Given the description of an element on the screen output the (x, y) to click on. 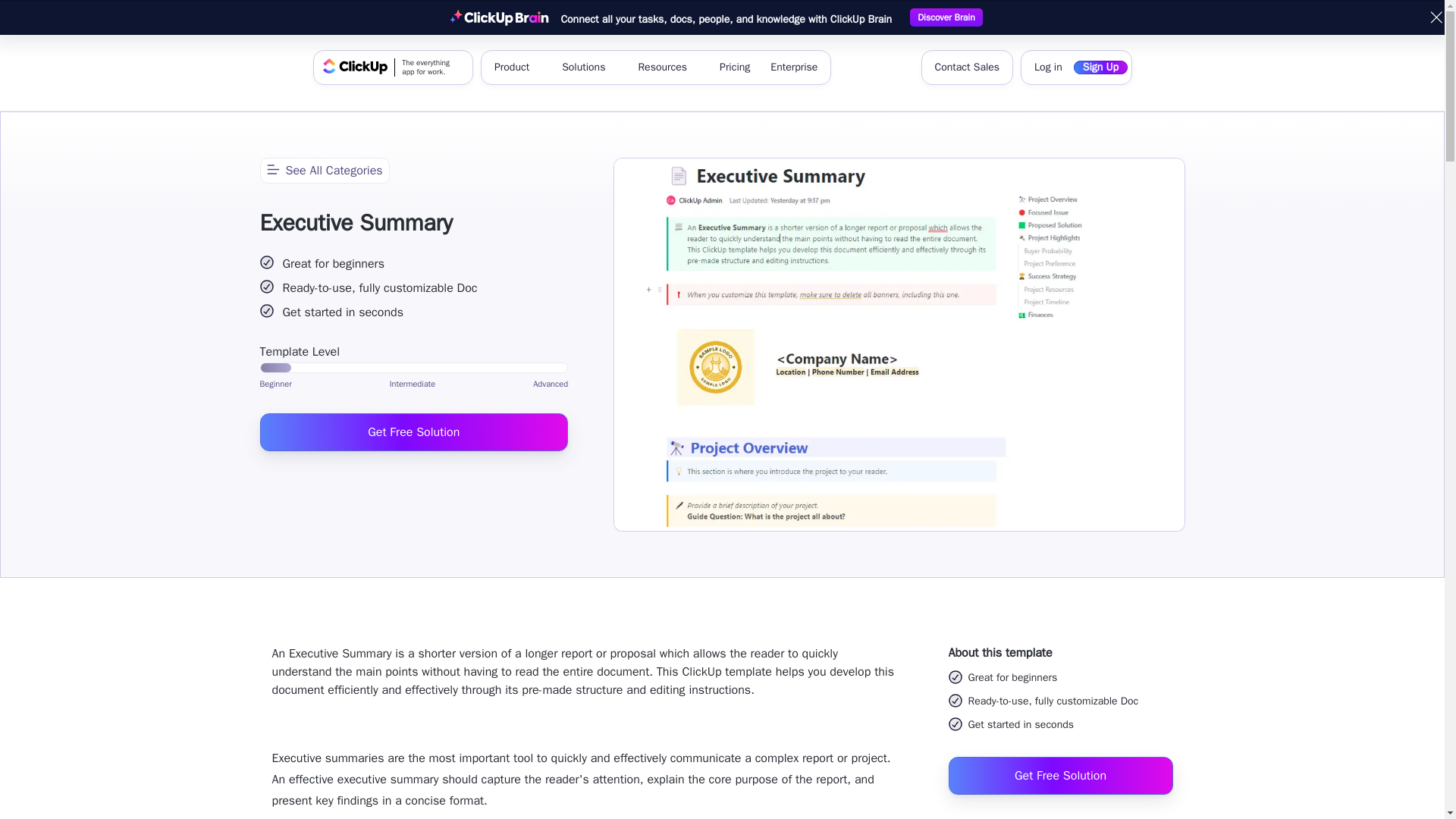
Close banner (1435, 17)
Enterprise (794, 67)
Contact Sales (966, 67)
Resources (667, 67)
Solutions (589, 67)
Pricing (734, 67)
Log in (1048, 67)
See All Categories (323, 170)
Discover Brain (945, 17)
